Given the description of an element on the screen output the (x, y) to click on. 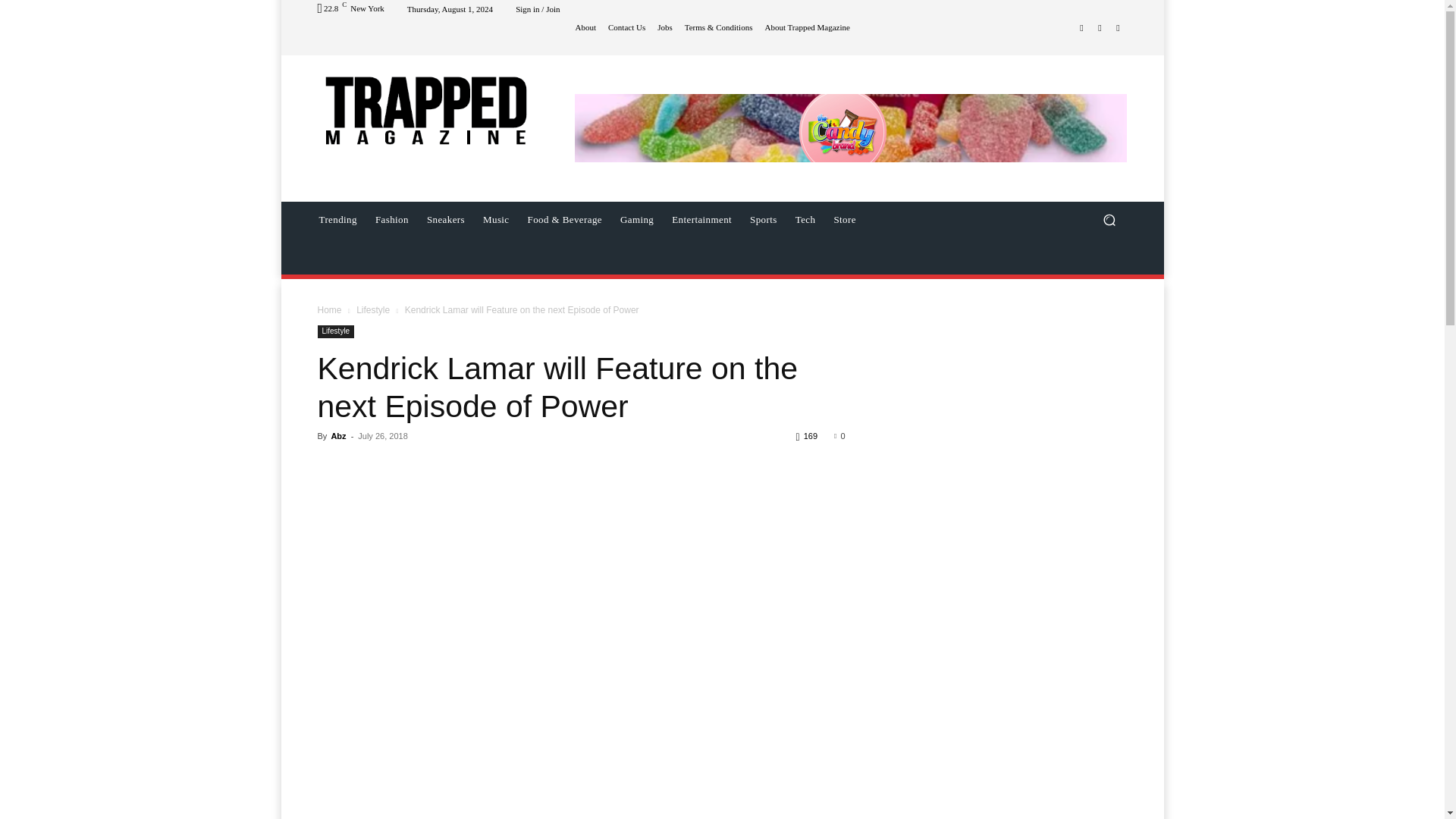
Facebook (1080, 27)
Store (844, 219)
Contact Us (625, 27)
View all posts in Lifestyle (373, 309)
Trapped Magazine (425, 109)
Twitter (1117, 27)
Tech (805, 219)
Entertainment (701, 219)
Trending (336, 219)
Instagram (1099, 27)
